Given the description of an element on the screen output the (x, y) to click on. 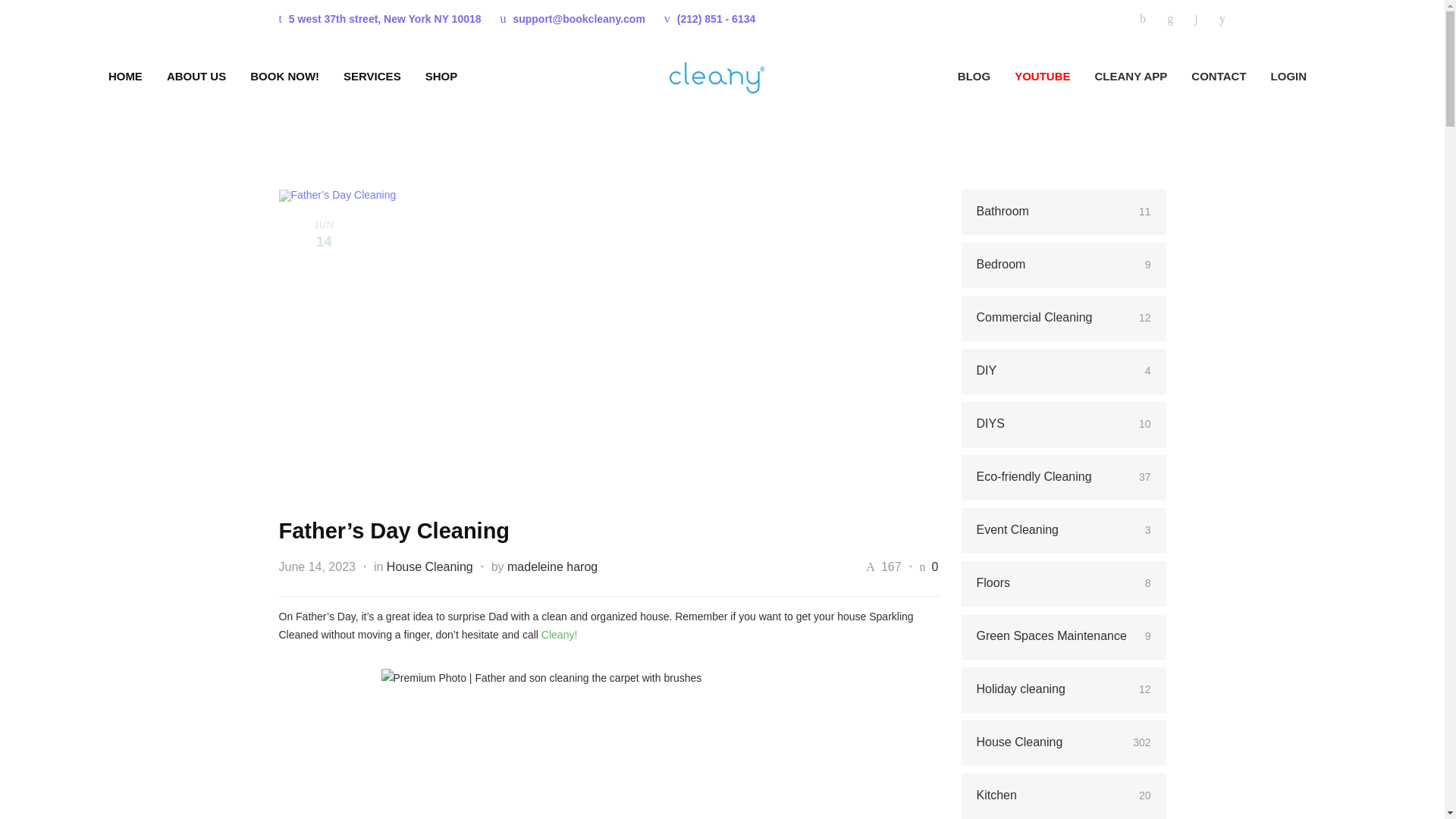
BOOK NOW! (271, 76)
ABOUT US (183, 76)
SHOP (429, 76)
SERVICES (359, 76)
